Given the description of an element on the screen output the (x, y) to click on. 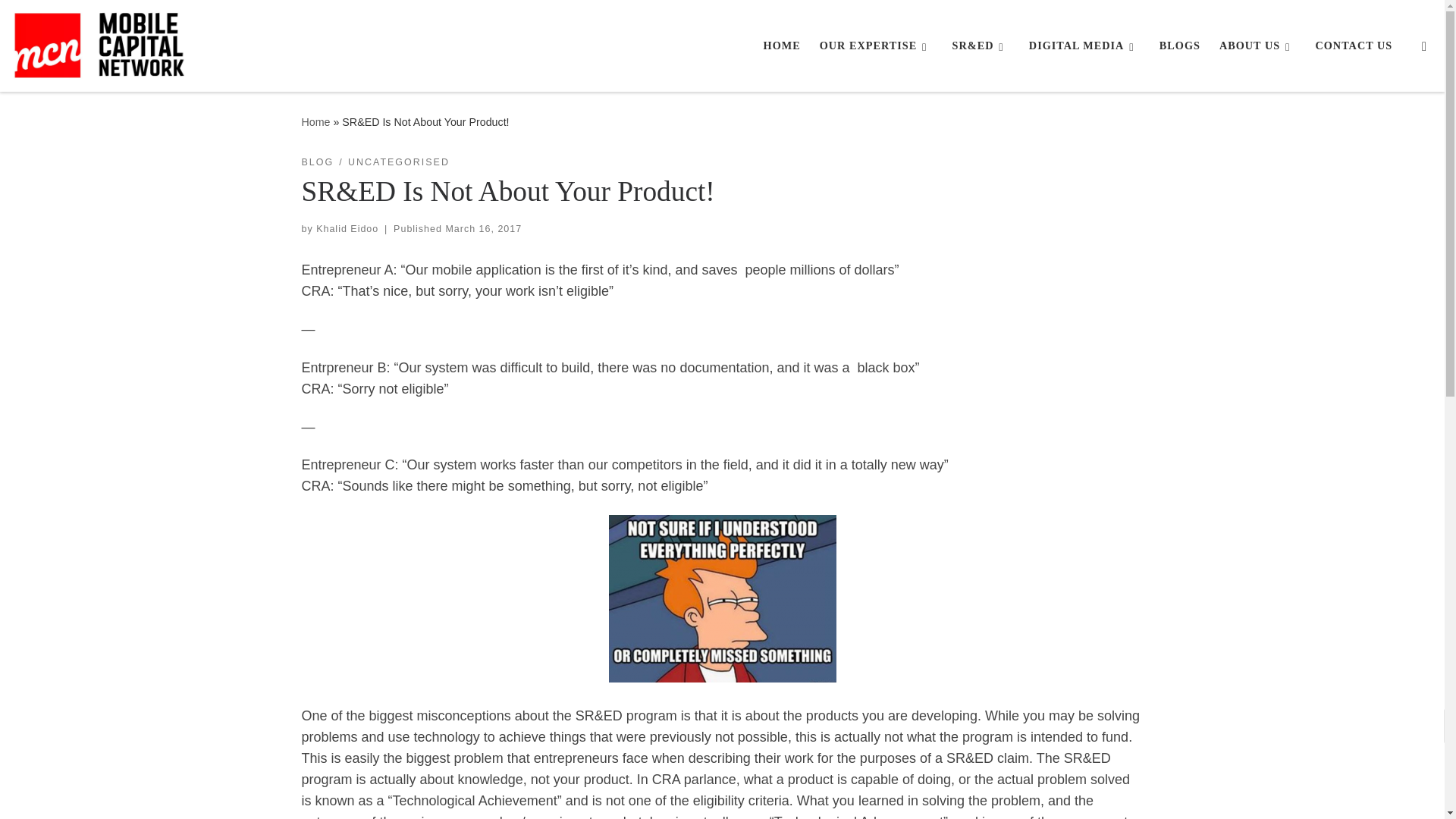
Home (781, 45)
View all posts in Uncategorised (398, 162)
HOME (781, 45)
OUR EXPERTISE (875, 45)
Skip to content (60, 20)
DIGITAL MEDIA (1084, 45)
View all posts by Khalid Eidoo (346, 228)
1:28 PM (483, 228)
ABOUT US (1257, 45)
View all posts in Blog (317, 162)
